Given the description of an element on the screen output the (x, y) to click on. 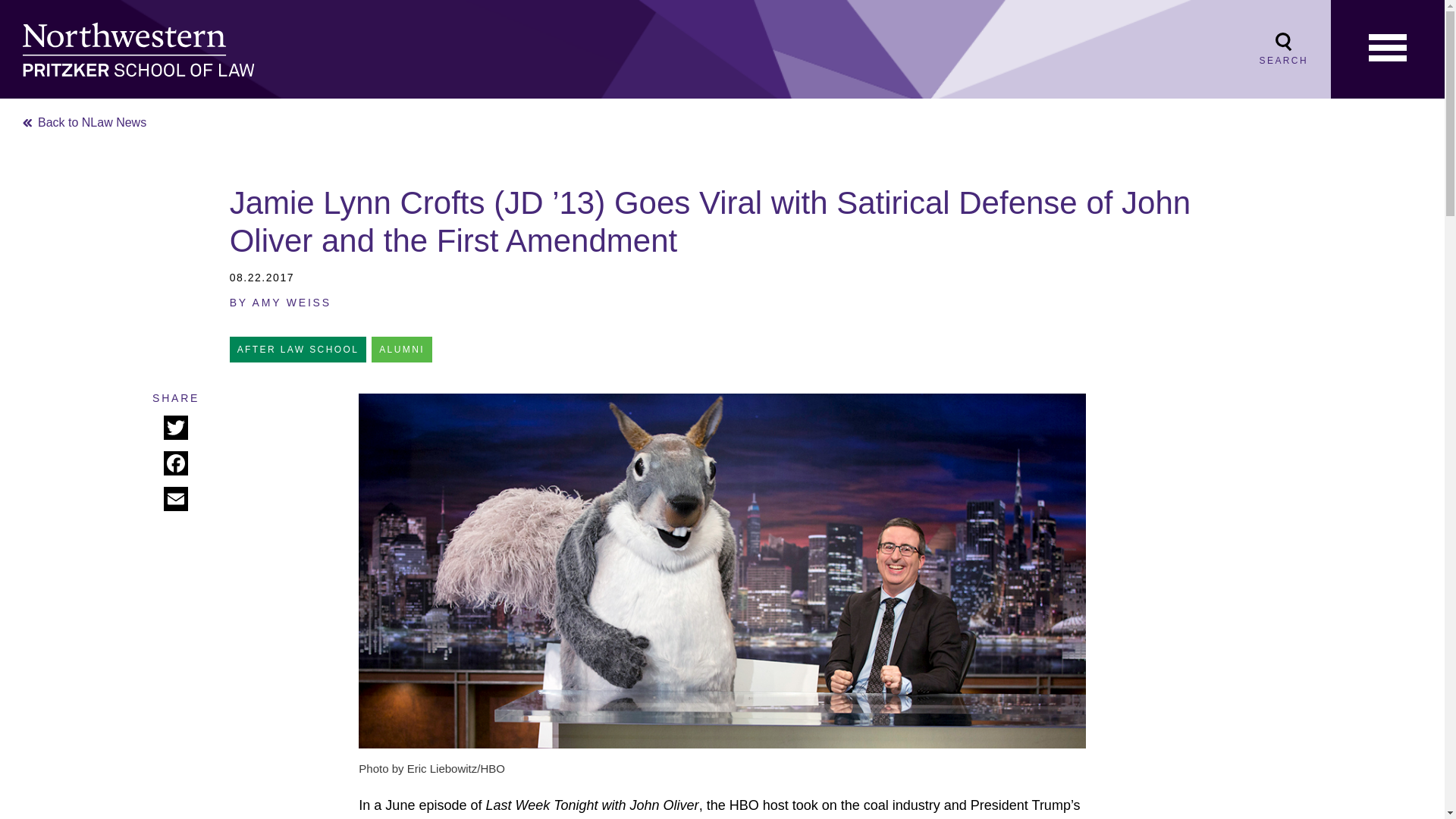
Twitter (175, 429)
Email (175, 500)
SEARCH (1283, 49)
Facebook (175, 465)
ALUMNI (401, 349)
Twitter (175, 429)
segment (641, 818)
AFTER LAW SCHOOL (298, 349)
Email (175, 500)
Facebook (175, 465)
Back to NLaw News (85, 122)
